Given the description of an element on the screen output the (x, y) to click on. 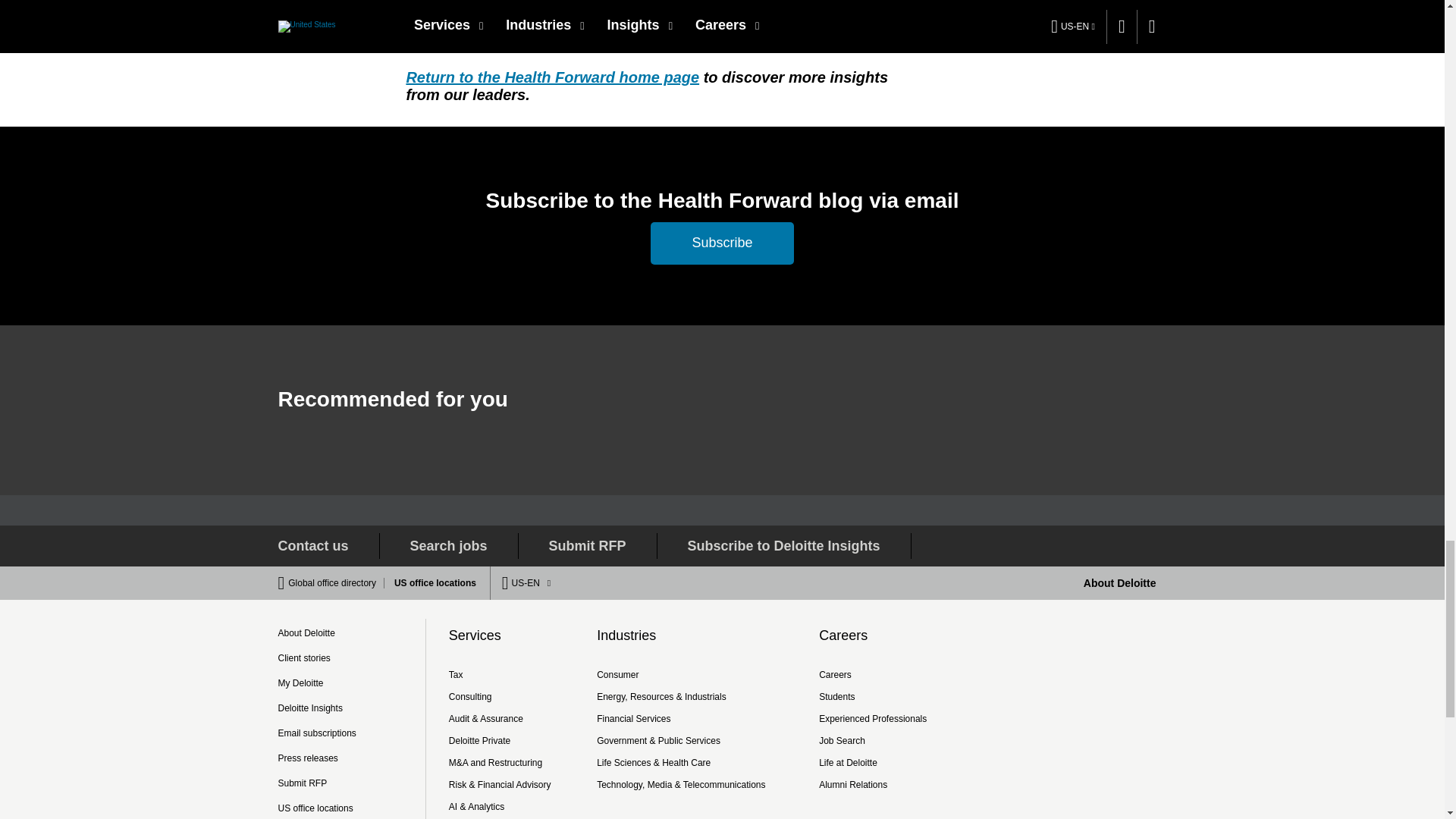
Global office directory (336, 583)
US office locations (431, 583)
Health Care Forward home page (552, 76)
